Given the description of an element on the screen output the (x, y) to click on. 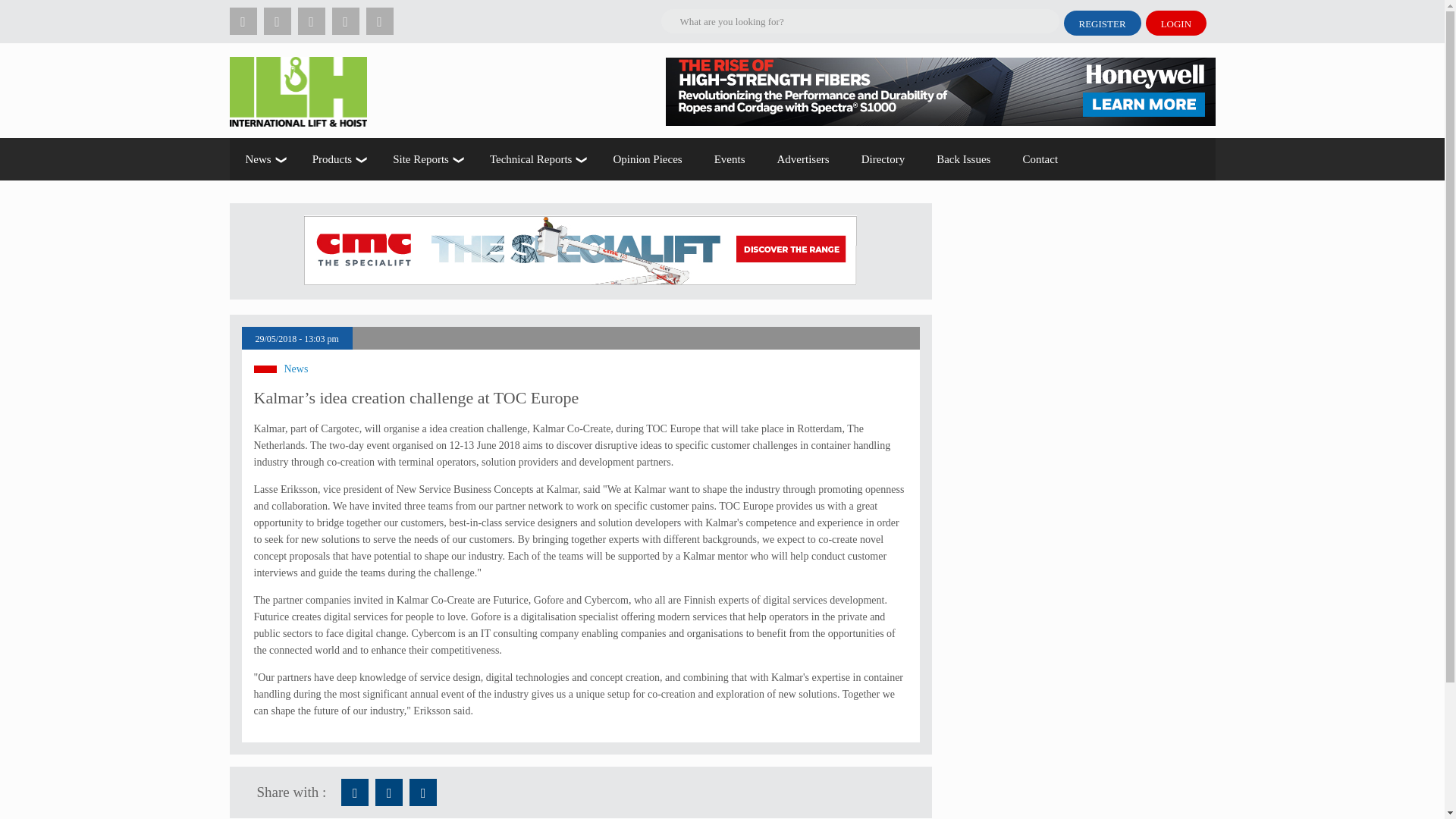
REGISTER (1101, 23)
Lift and Hoist Australia  LinkedIn (422, 791)
Lift and Hoist Australia  Facebook (354, 791)
Site Reports (425, 159)
News (261, 159)
Products (337, 159)
Search (198, 12)
LOGIN (1176, 23)
